Given the description of an element on the screen output the (x, y) to click on. 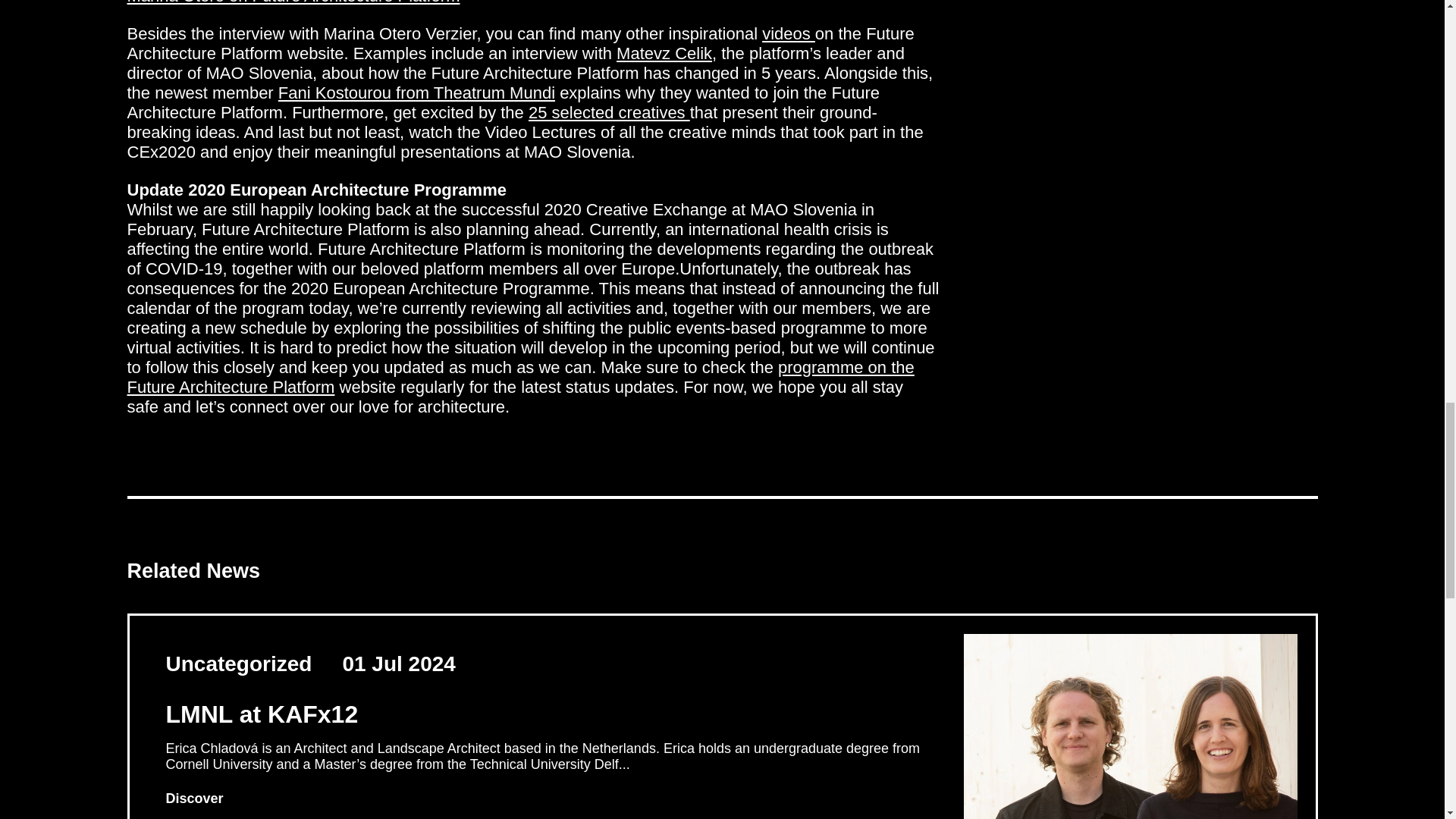
programme on the Future Architecture Platform (521, 376)
videos  (788, 33)
25 selected creatives  (609, 112)
Marina Otero on Future Architecture Platform (294, 2)
Fani Kostourou from Theatrum Mundi (416, 92)
Matevz Celik (663, 53)
